Given the description of an element on the screen output the (x, y) to click on. 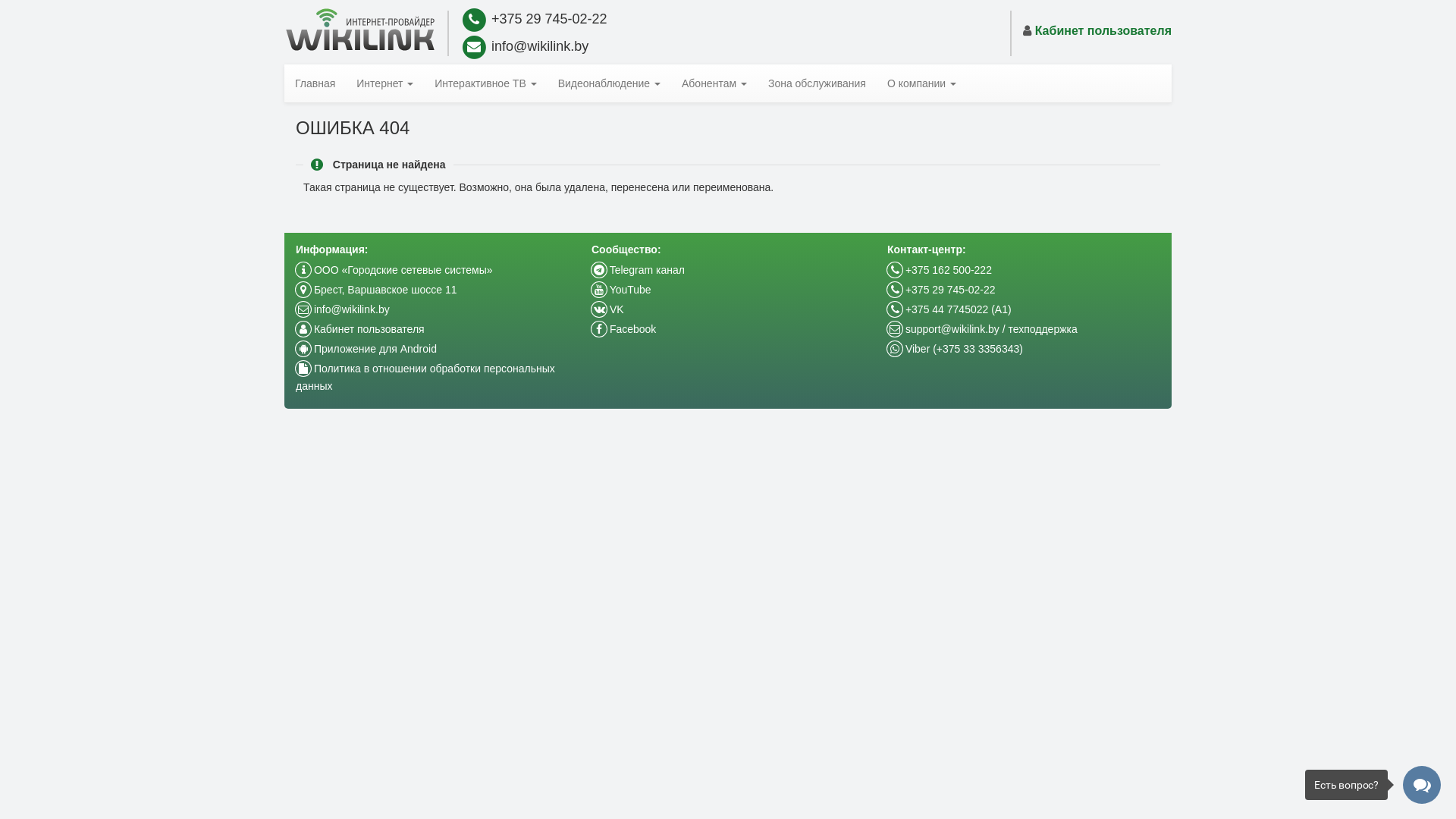
+375 29 745-02-22 Element type: text (533, 19)
Facebook Element type: text (623, 328)
+375 162 500-222 Element type: text (939, 269)
+375 29 745-02-22 Element type: text (941, 289)
Viber (+375 33 3356343) Element type: text (954, 348)
info@wikilink.by Element type: text (533, 46)
YouTube Element type: text (621, 289)
VK Element type: text (607, 309)
info@wikilink.by Element type: text (342, 309)
